Given the description of an element on the screen output the (x, y) to click on. 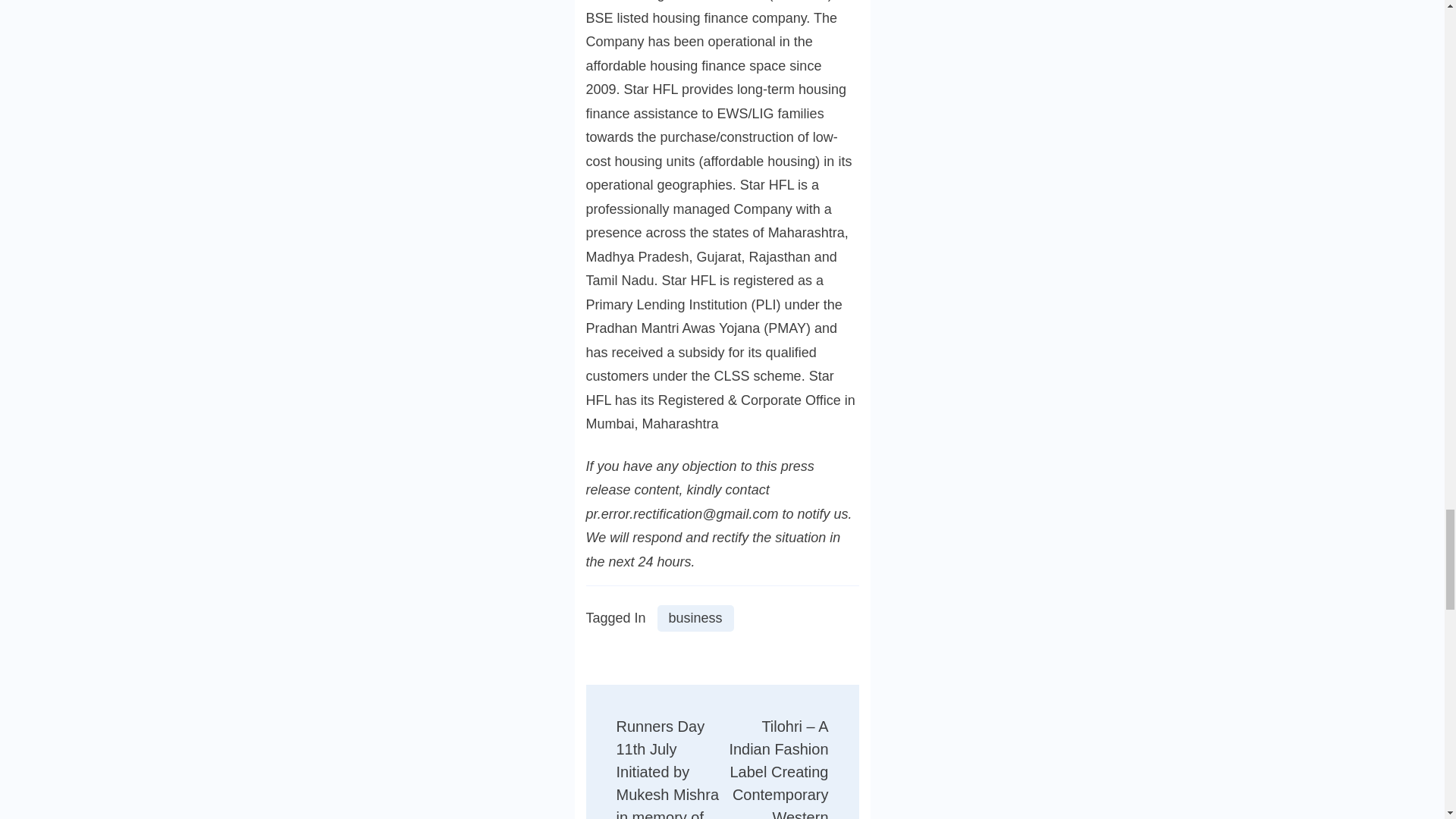
business (695, 618)
